Given the description of an element on the screen output the (x, y) to click on. 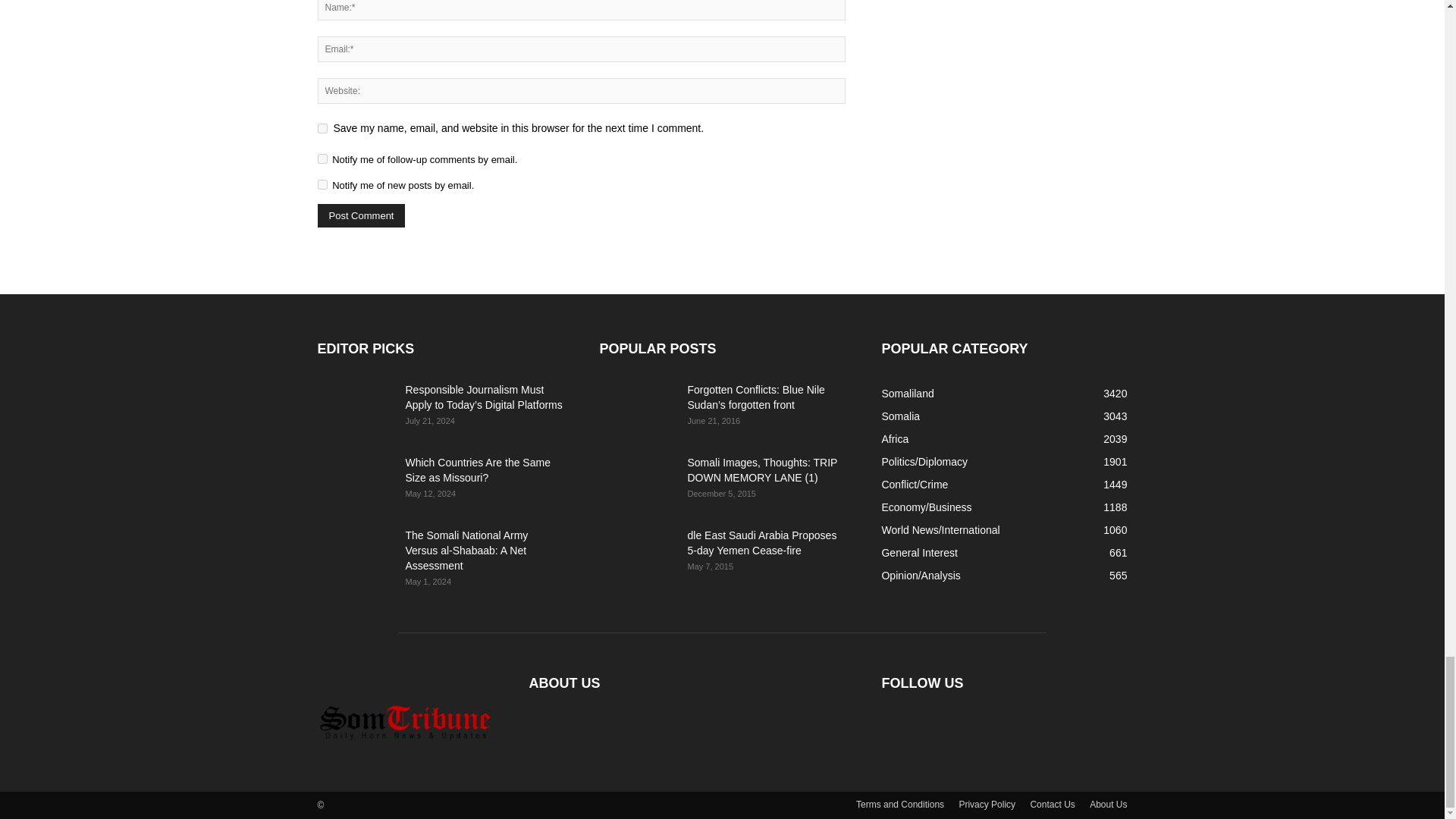
subscribe (321, 184)
Post Comment (360, 215)
subscribe (321, 158)
yes (321, 128)
